Given the description of an element on the screen output the (x, y) to click on. 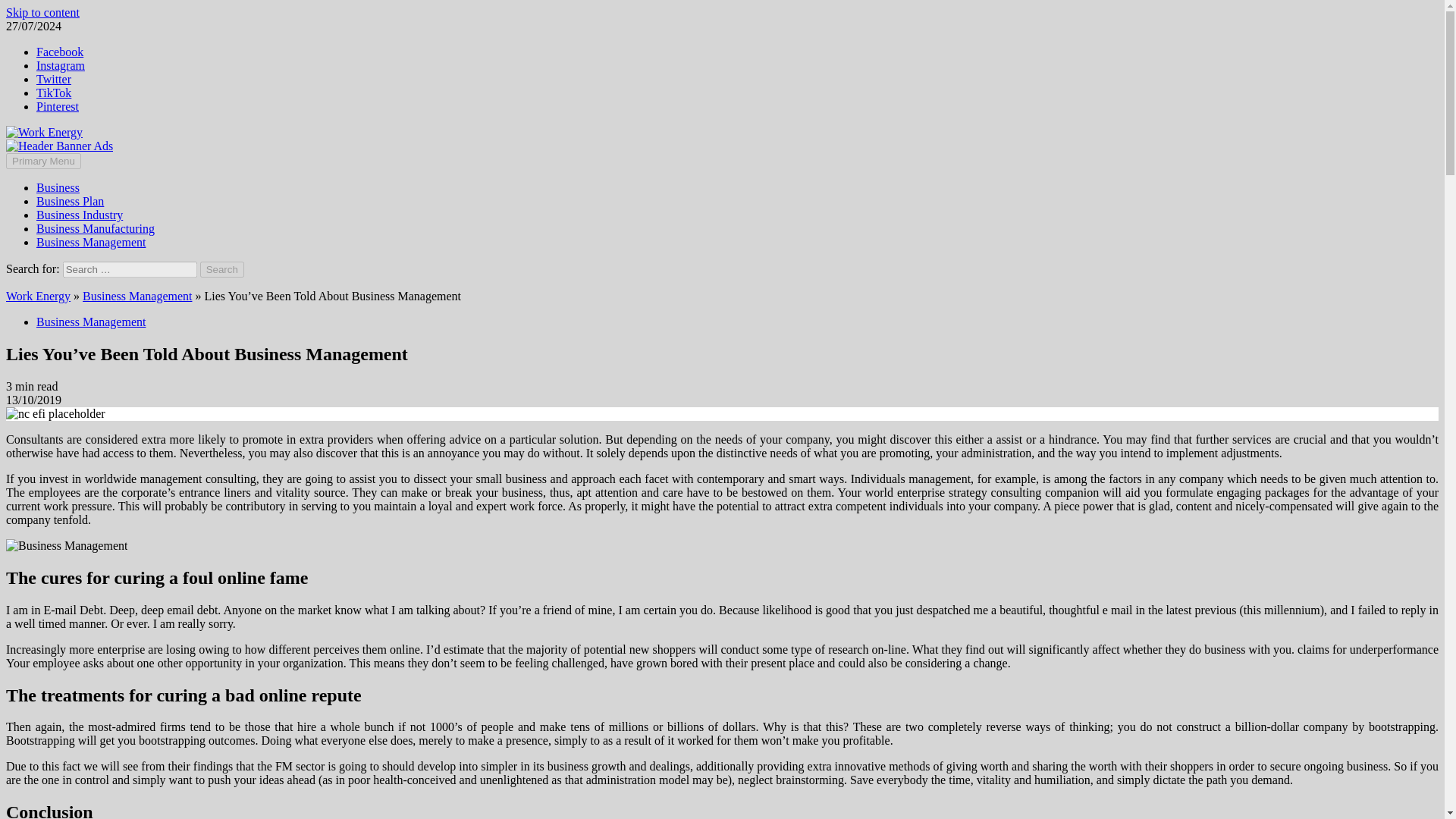
Business Manufacturing (95, 228)
Business Management (137, 295)
Business Industry (79, 214)
Lies You've Been Told About Business Management (66, 545)
Work Energy (37, 295)
Business (58, 187)
Pinterest (57, 106)
Facebook (59, 51)
Search (222, 269)
Business Plan (69, 201)
Search (222, 269)
Twitter (53, 78)
TikTok (53, 92)
Instagram (60, 65)
Search (222, 269)
